Given the description of an element on the screen output the (x, y) to click on. 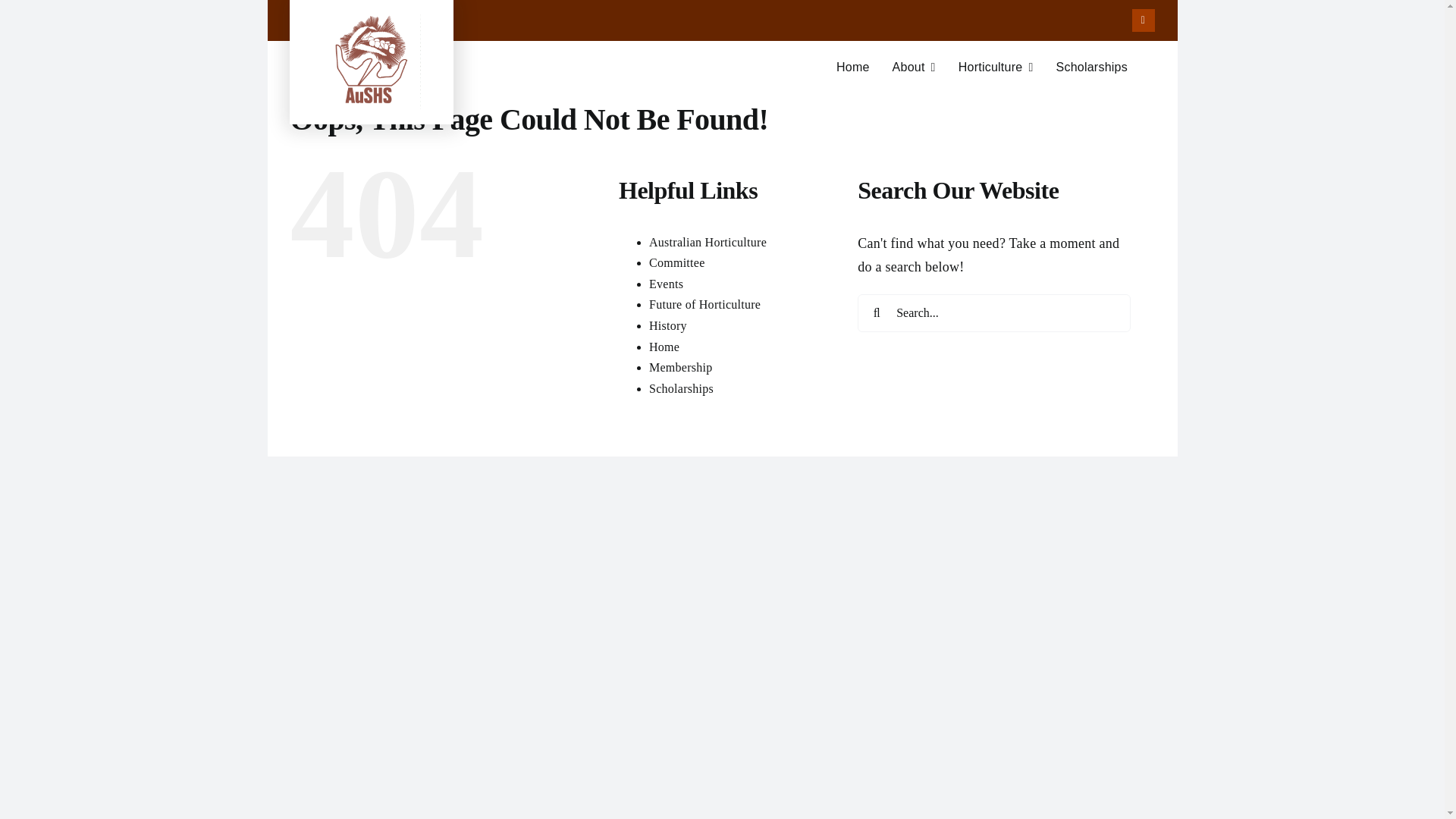
Future of Horticulture (704, 304)
Membership (681, 367)
Scholarships (681, 388)
Horticulture (995, 67)
Scholarships (1090, 67)
Home (721, 74)
Australian Horticulture (664, 345)
Committee (708, 241)
Facebook (676, 262)
